Given the description of an element on the screen output the (x, y) to click on. 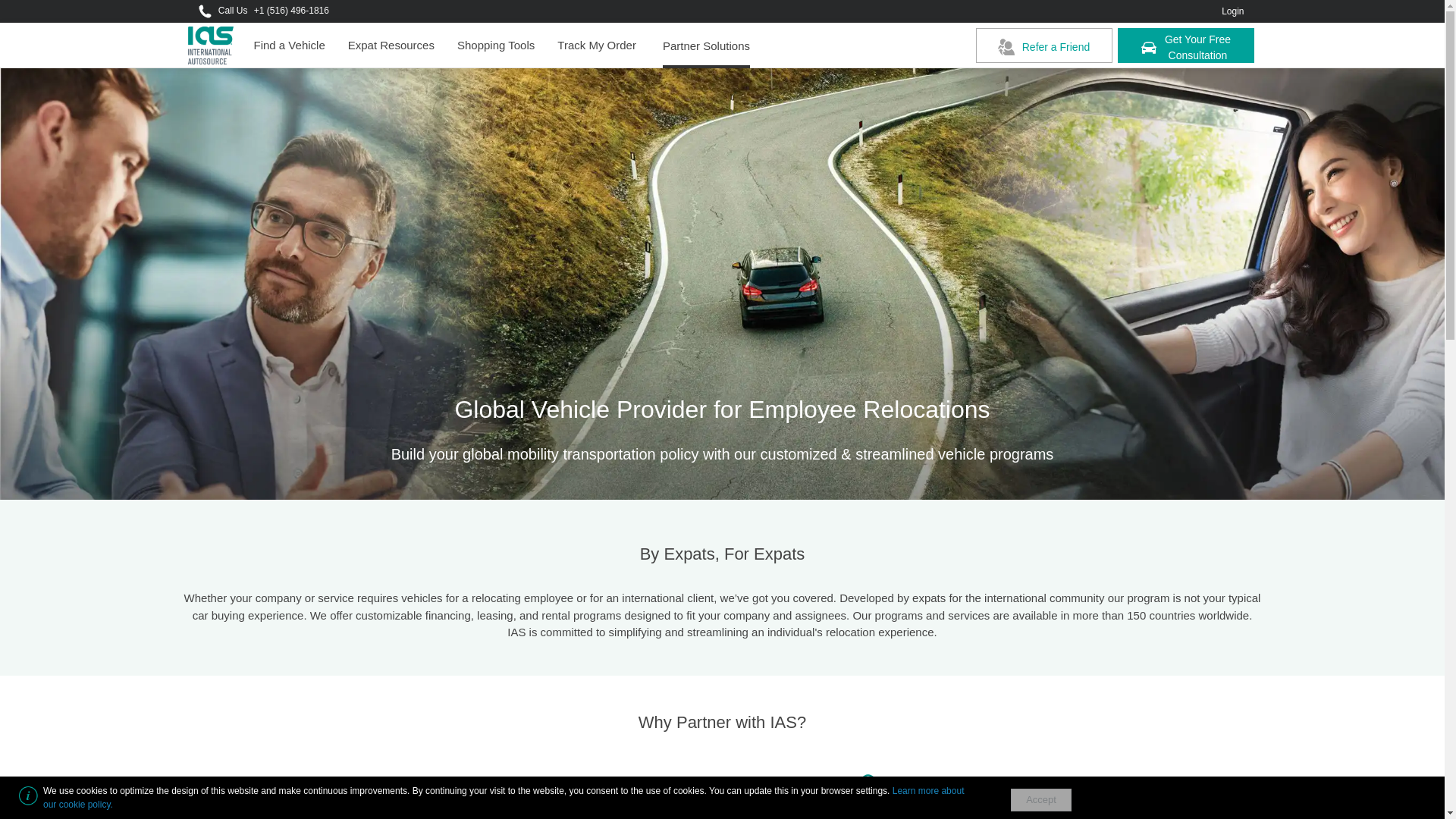
Find a Vehicle (289, 44)
Accept (1040, 799)
Track My Order (596, 44)
Expat Resources (390, 44)
Learn more about our cookie policy. (503, 797)
Login (1238, 11)
Shopping Tools (1185, 45)
IAS Logo (495, 44)
